Given the description of an element on the screen output the (x, y) to click on. 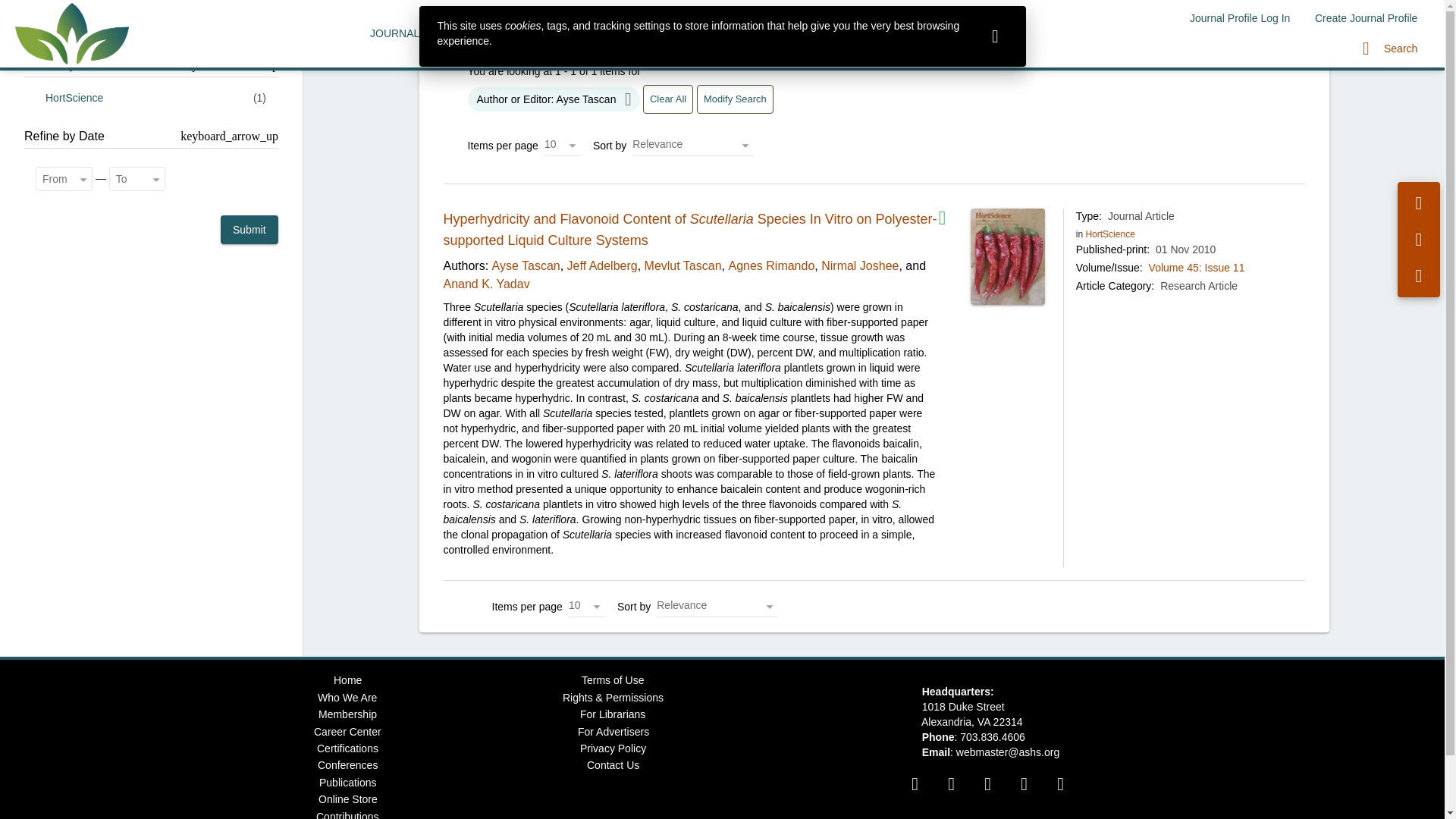
Jump to Content (40, 8)
ABOUT ASHS (842, 32)
ADVERTISERS (657, 32)
JOURNALS (398, 32)
STORE (918, 32)
ADVERTISERS (657, 32)
Search (1390, 48)
Dismiss this warning (994, 36)
PUBLISH WITH US (497, 32)
FAQS (582, 32)
